Given the description of an element on the screen output the (x, y) to click on. 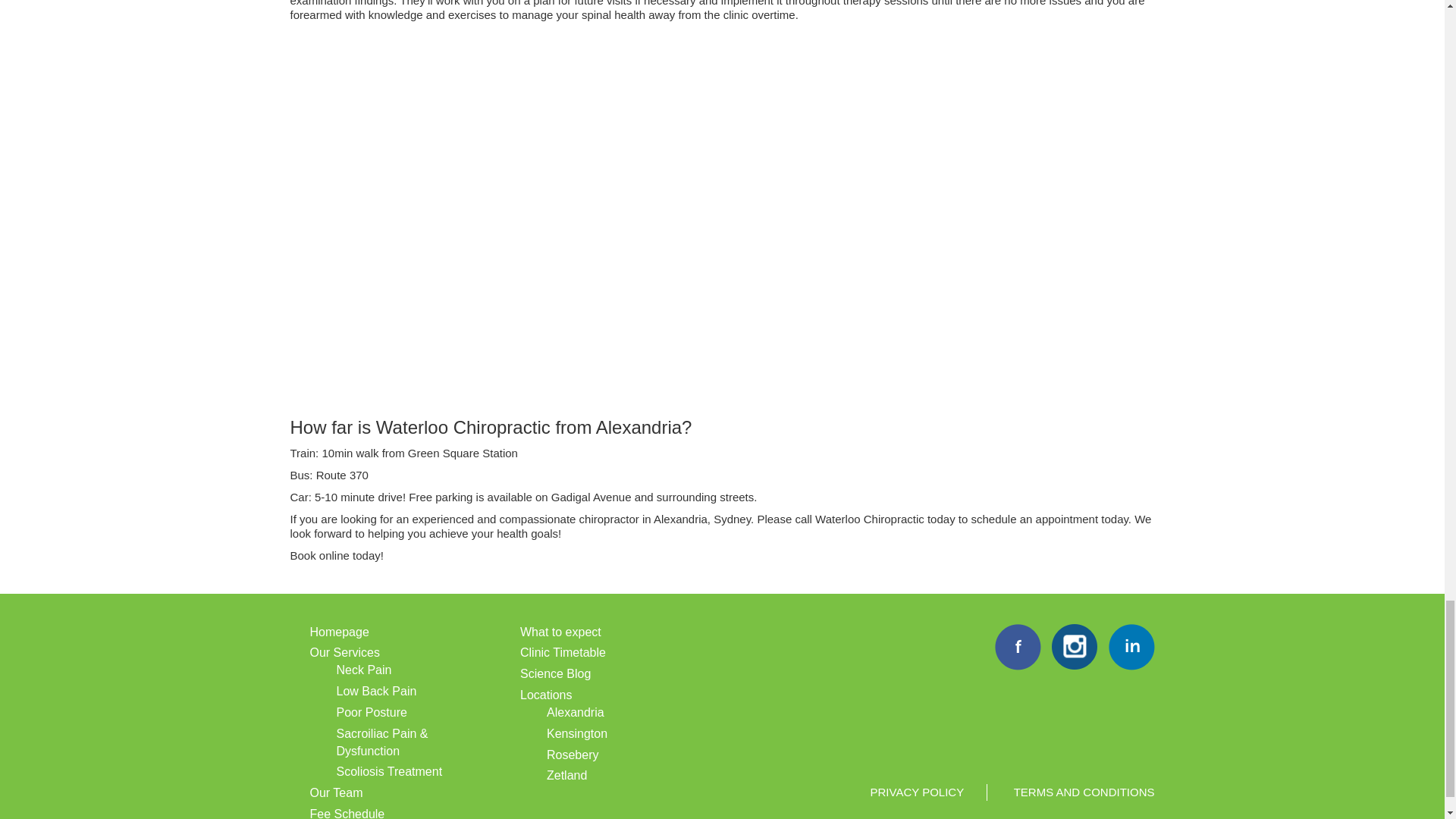
Science Blog (555, 673)
Zetland (566, 775)
Fee Schedule (346, 813)
Locations (545, 694)
Alexandria (575, 712)
Clinic Timetable (562, 652)
Neck Pain (363, 669)
Scoliosis Treatment (389, 771)
Poor Posture (371, 712)
Rosebery (572, 754)
